Given the description of an element on the screen output the (x, y) to click on. 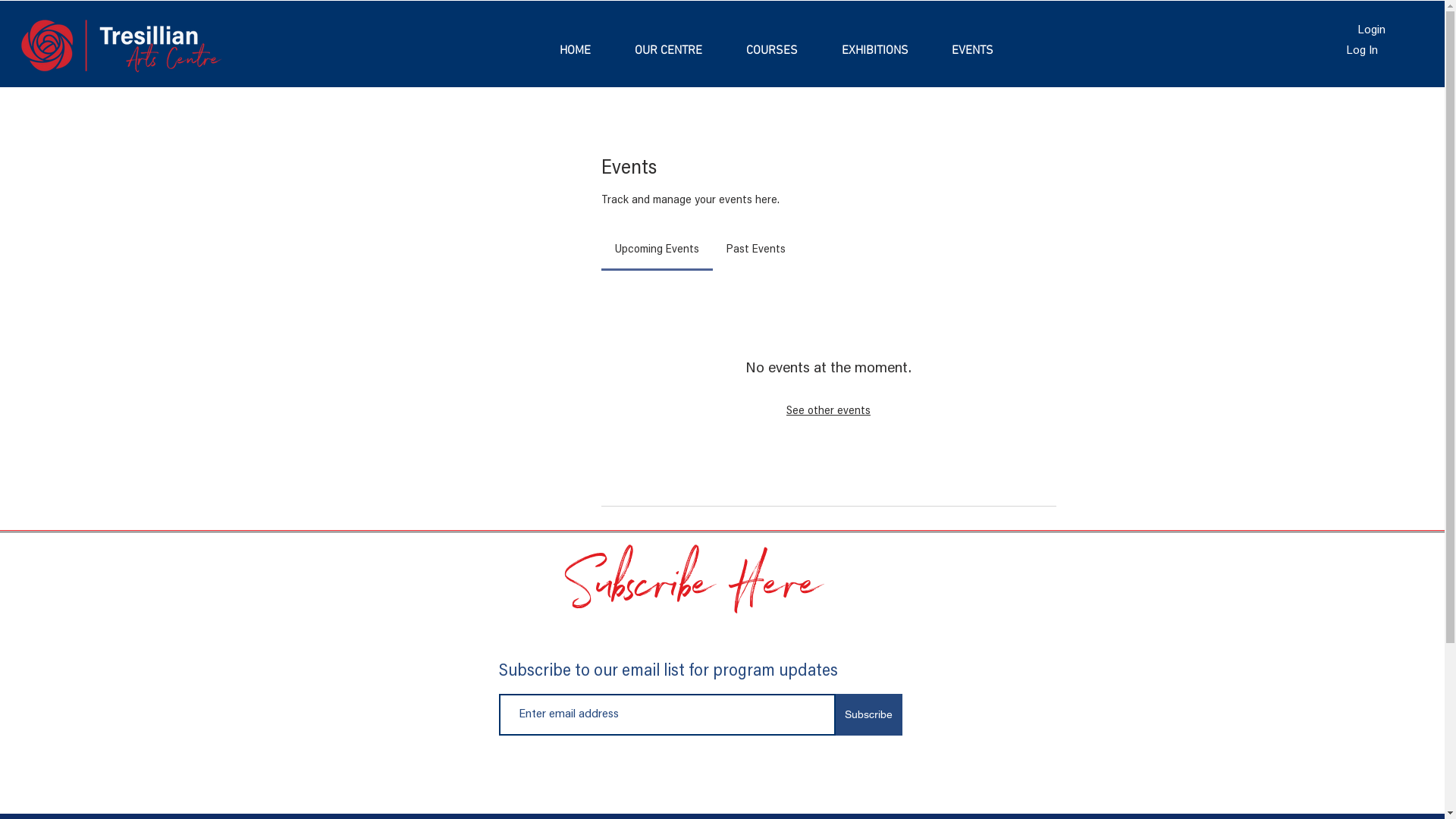
OUR CENTRE Element type: text (668, 50)
EXHIBITIONS Element type: text (874, 50)
HOME Element type: text (575, 50)
See other events Element type: text (828, 411)
Log In Element type: text (1361, 50)
Subscribe Element type: text (868, 714)
EVENTS Element type: text (971, 50)
